Given the description of an element on the screen output the (x, y) to click on. 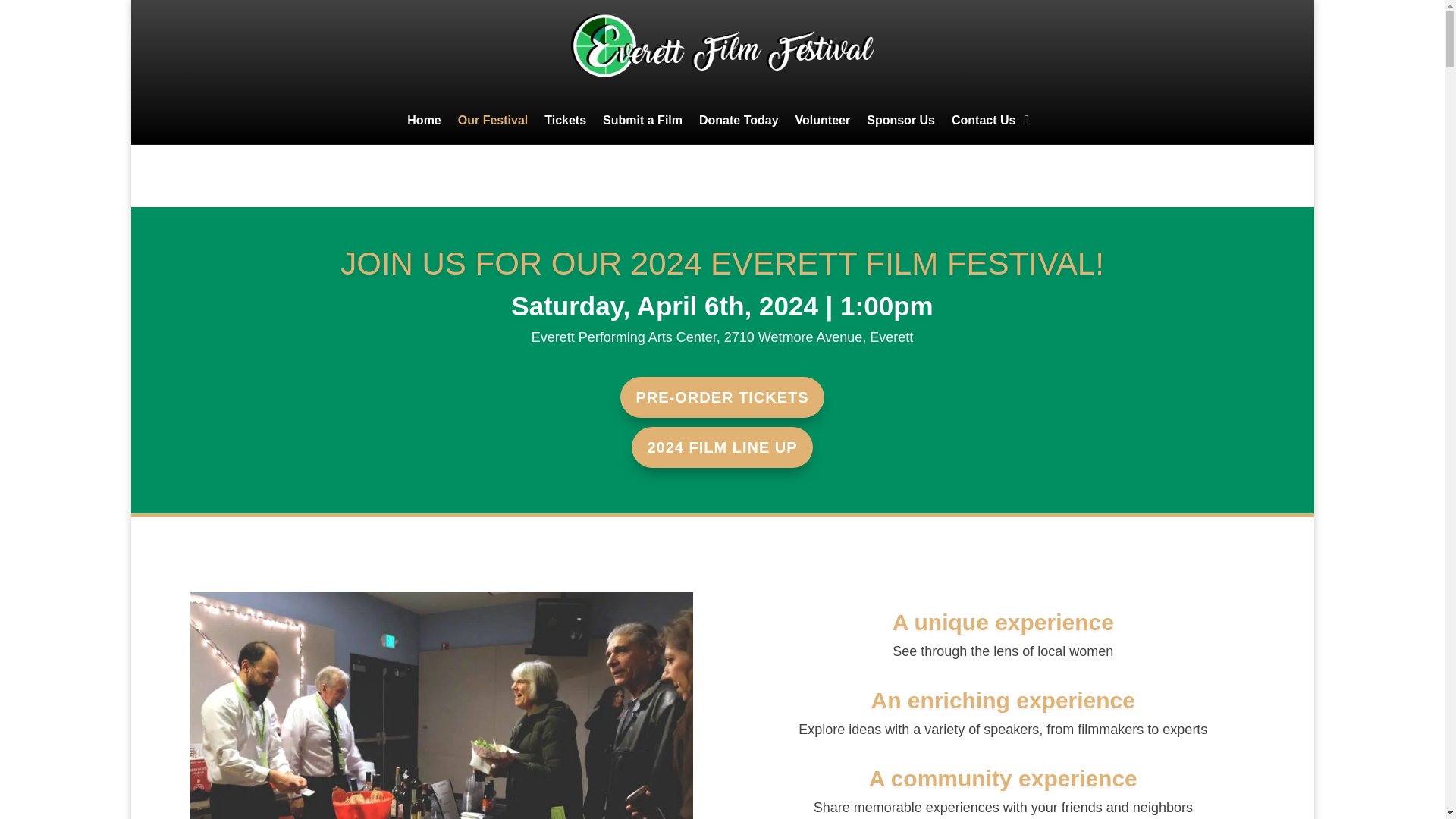
Submit a Film (642, 123)
Tickets (565, 123)
Sponsor Us (900, 123)
Donate Today (738, 123)
Everett Performing Arts Center, 2710 Wetmore Avenue, Everett (722, 337)
Contact Us (983, 123)
PRE-ORDER TICKETS (722, 396)
front-page-2 (441, 705)
Volunteer (822, 123)
Our Festival (492, 123)
